Given the description of an element on the screen output the (x, y) to click on. 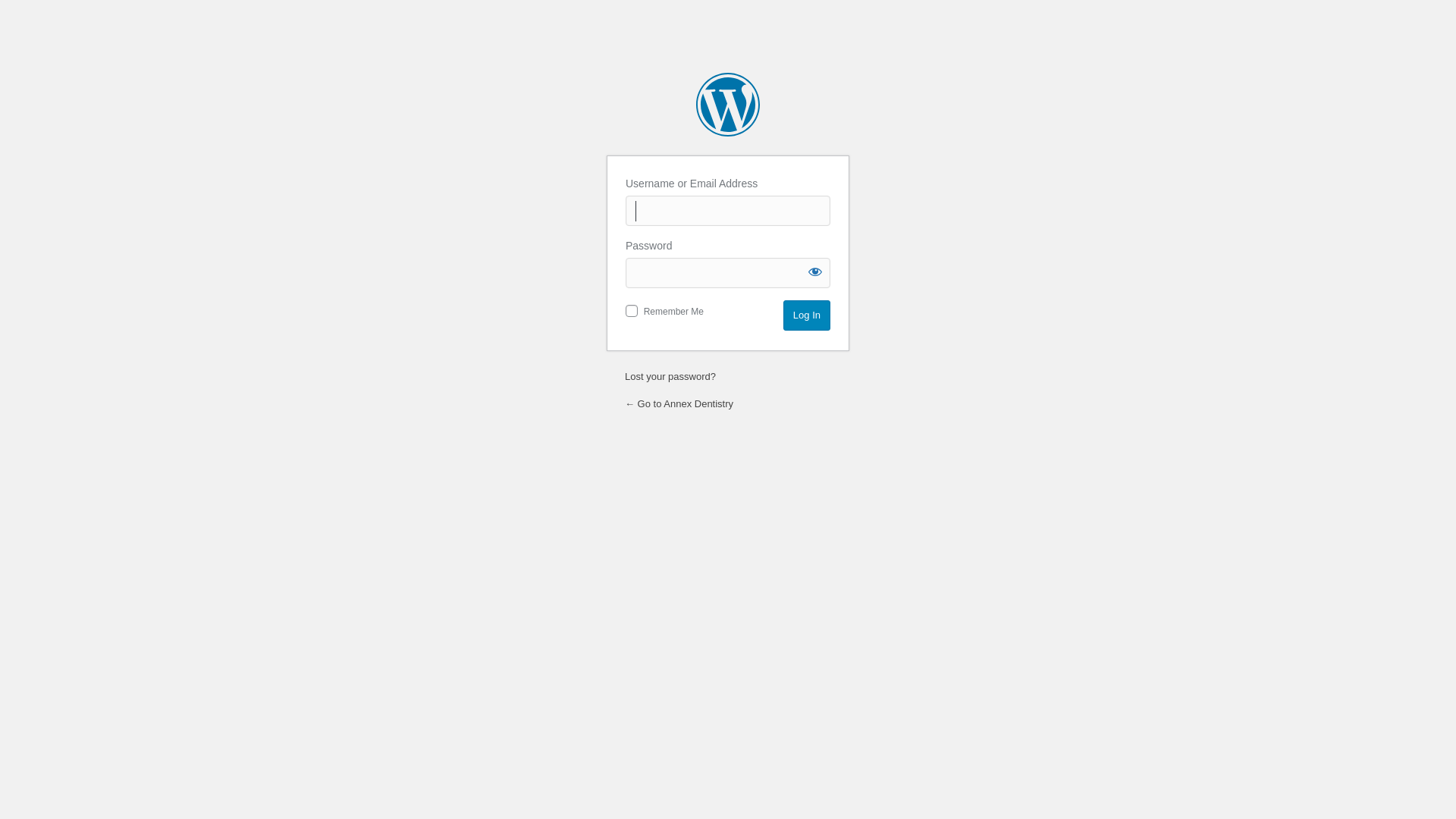
Lost your password? Element type: text (669, 376)
Log In Element type: text (806, 315)
Annex Dentistry Element type: text (727, 104)
